Given the description of an element on the screen output the (x, y) to click on. 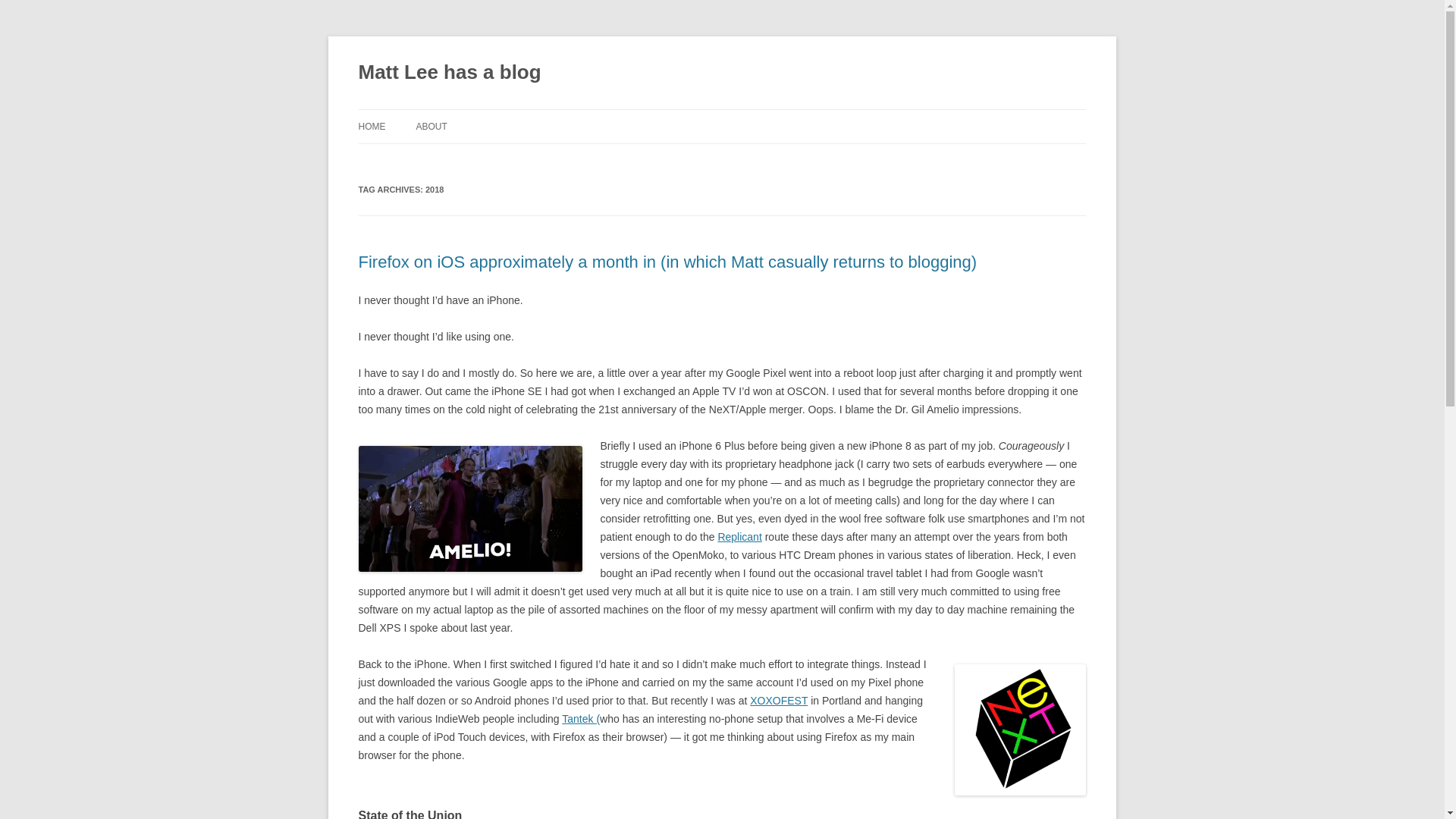
ABOUT (430, 126)
XOXOFEST (778, 700)
Replicant (739, 536)
Matt Lee has a blog (449, 72)
